Given the description of an element on the screen output the (x, y) to click on. 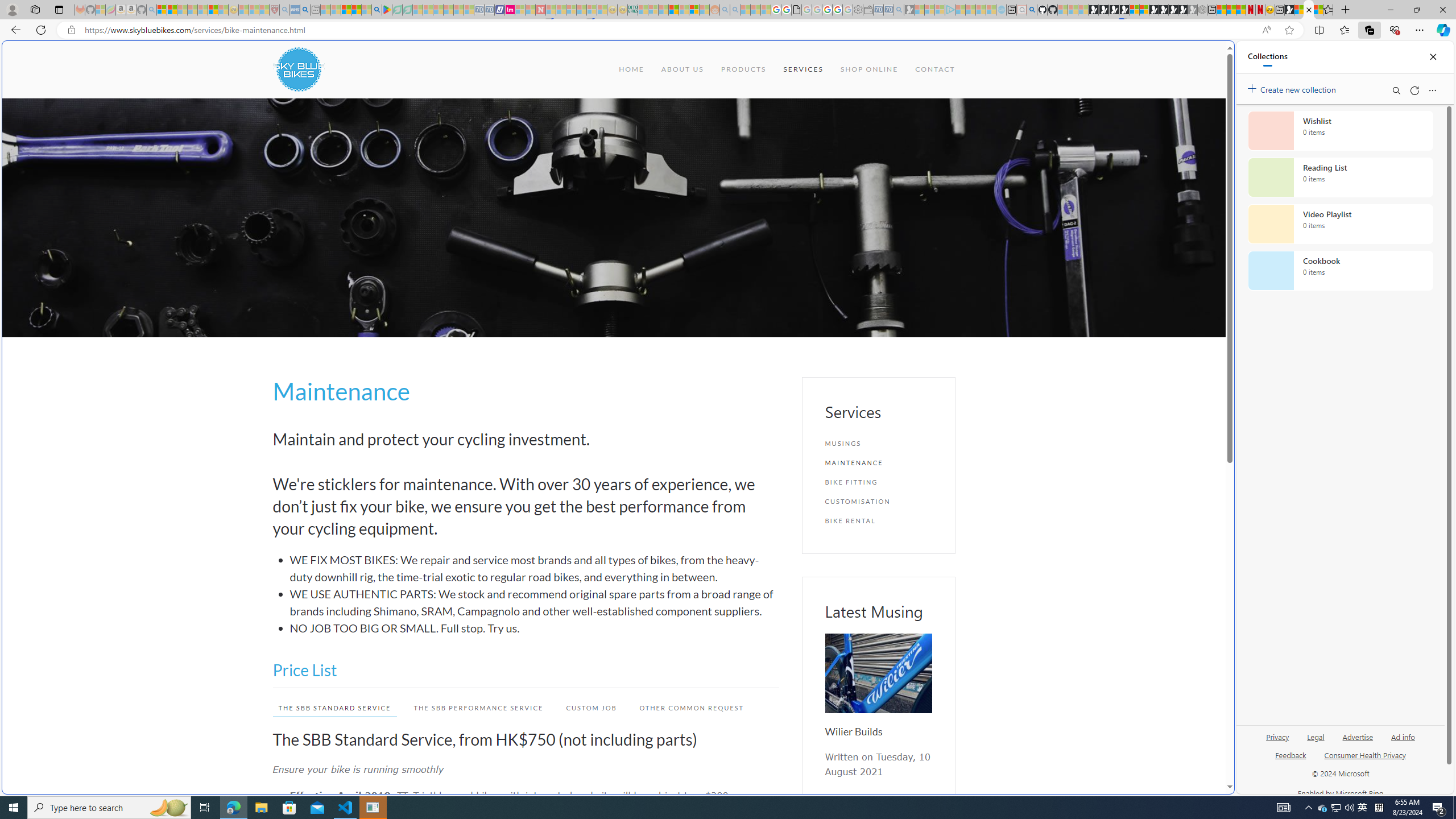
Tabs you've opened (885, 151)
CUSTOMISATION (878, 501)
MAINTENANCE (878, 462)
NO JOB TOO BIG OR SMALL. Full stop. Try us. (533, 628)
HOME (631, 68)
SHOP ONLINE (869, 68)
